Given the description of an element on the screen output the (x, y) to click on. 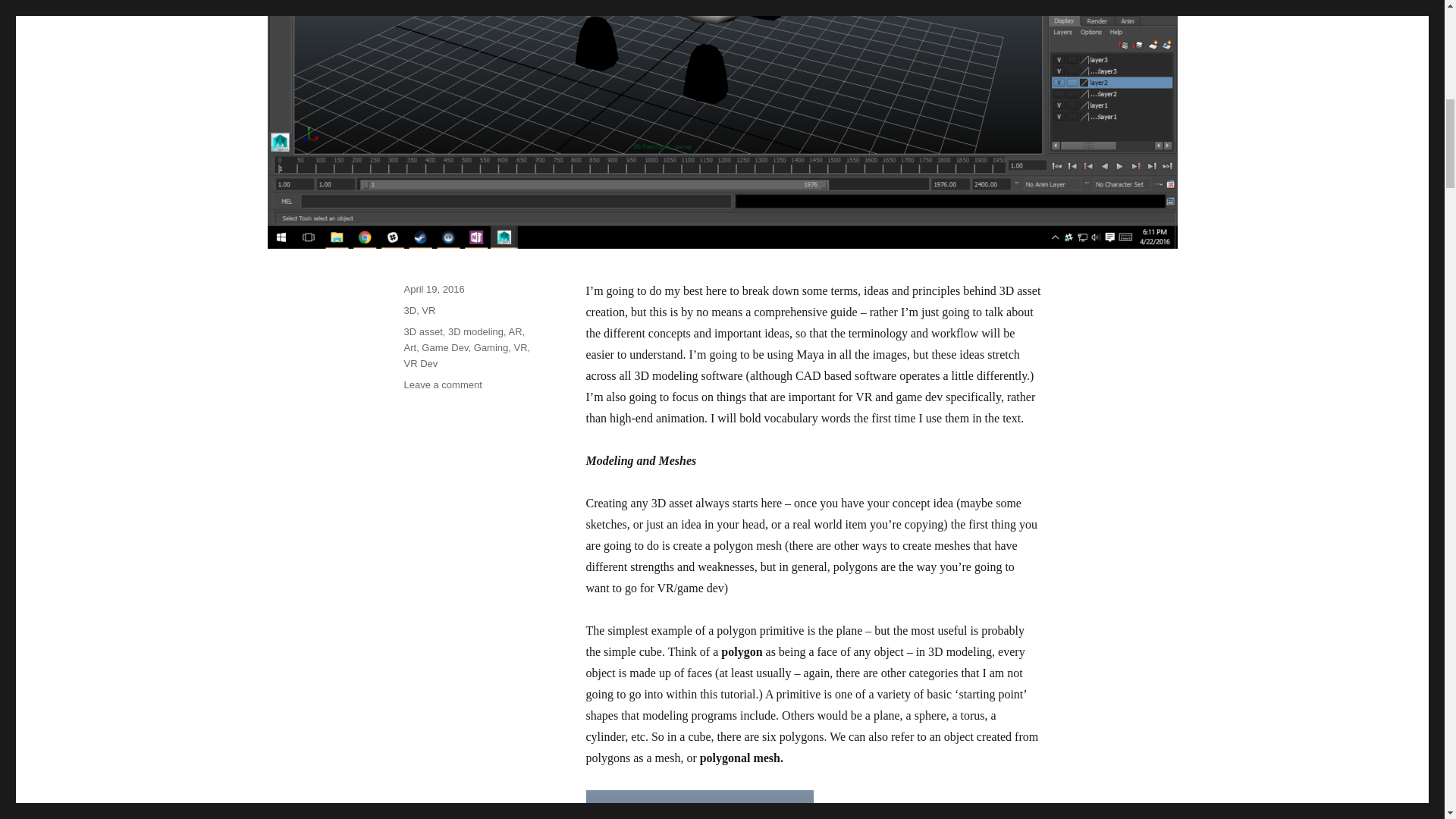
3D (409, 310)
April 19, 2016 (433, 288)
VR (520, 347)
AR (515, 331)
Gaming (491, 347)
VR (428, 310)
Game Dev (444, 347)
3D modeling (475, 331)
Art (409, 347)
VR Dev (420, 363)
3D asset (422, 331)
